Given the description of an element on the screen output the (x, y) to click on. 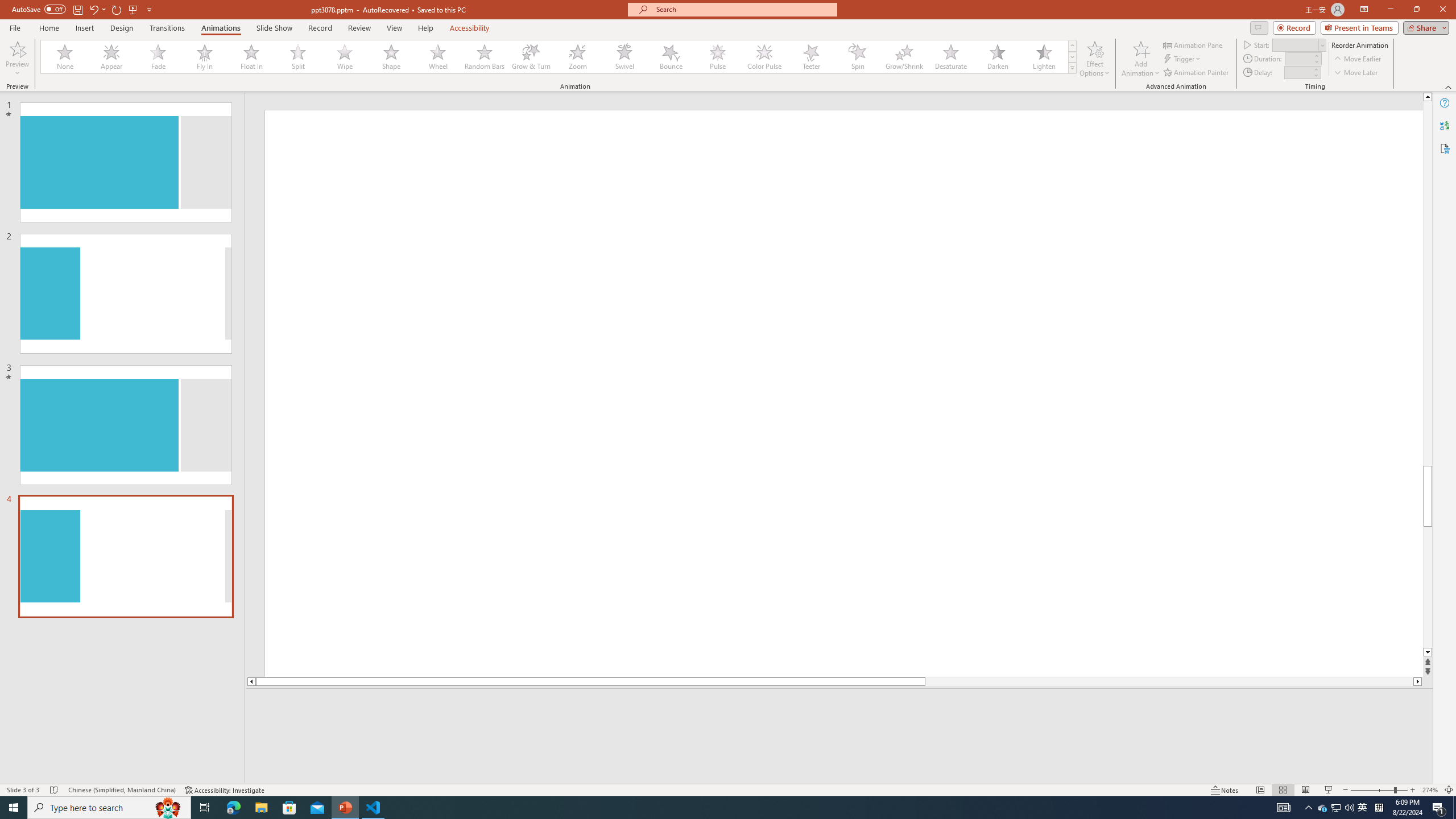
Less (1315, 75)
Desaturate (950, 56)
Spin (857, 56)
Grow & Turn (531, 56)
